Given the description of an element on the screen output the (x, y) to click on. 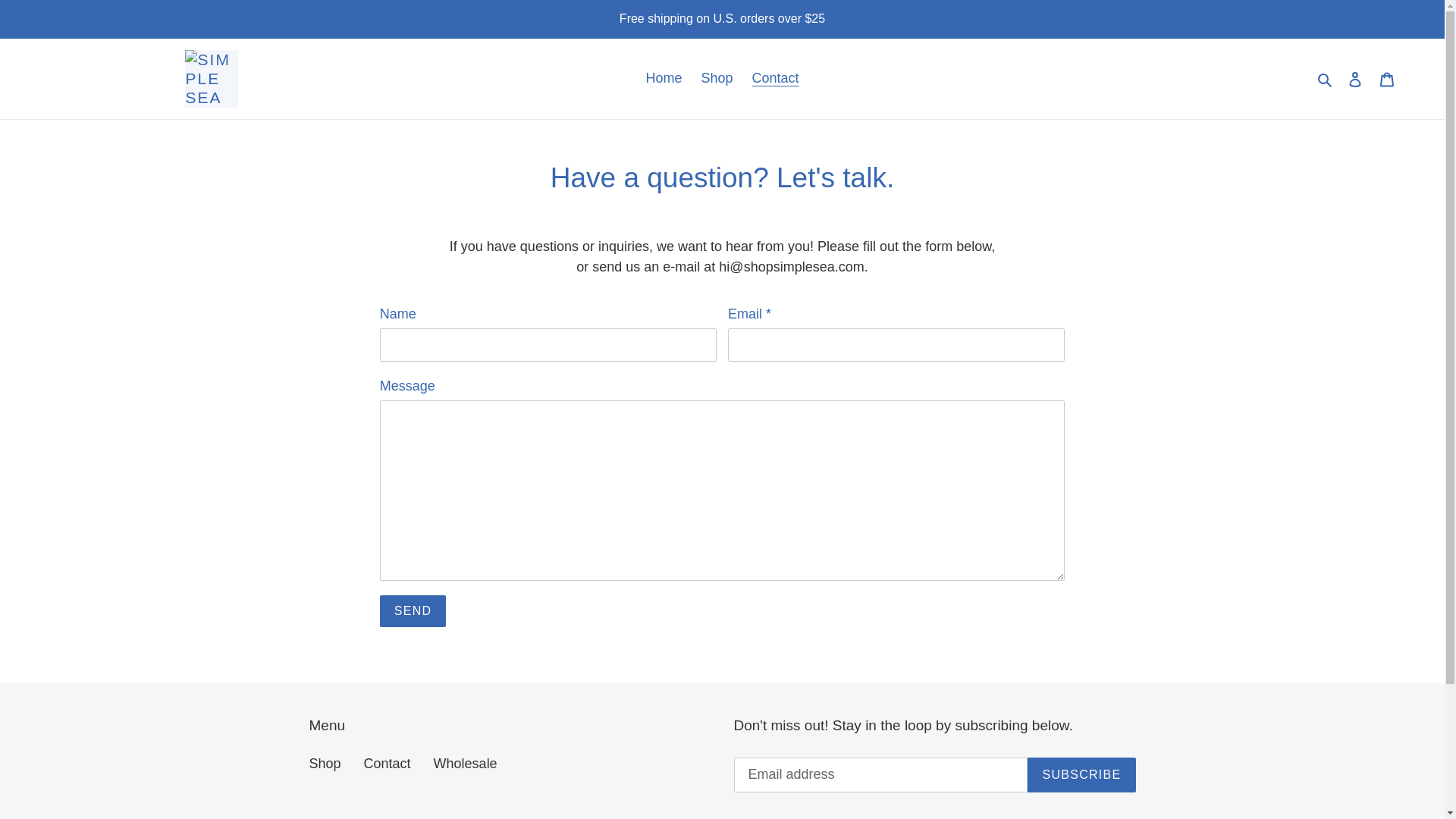
Search (1326, 78)
Send (413, 610)
Contact (775, 78)
SUBSCRIBE (1081, 774)
Log in (1355, 78)
Cart (1387, 78)
Contact (387, 763)
Wholesale (465, 763)
Send (413, 610)
Shop (324, 763)
